Given the description of an element on the screen output the (x, y) to click on. 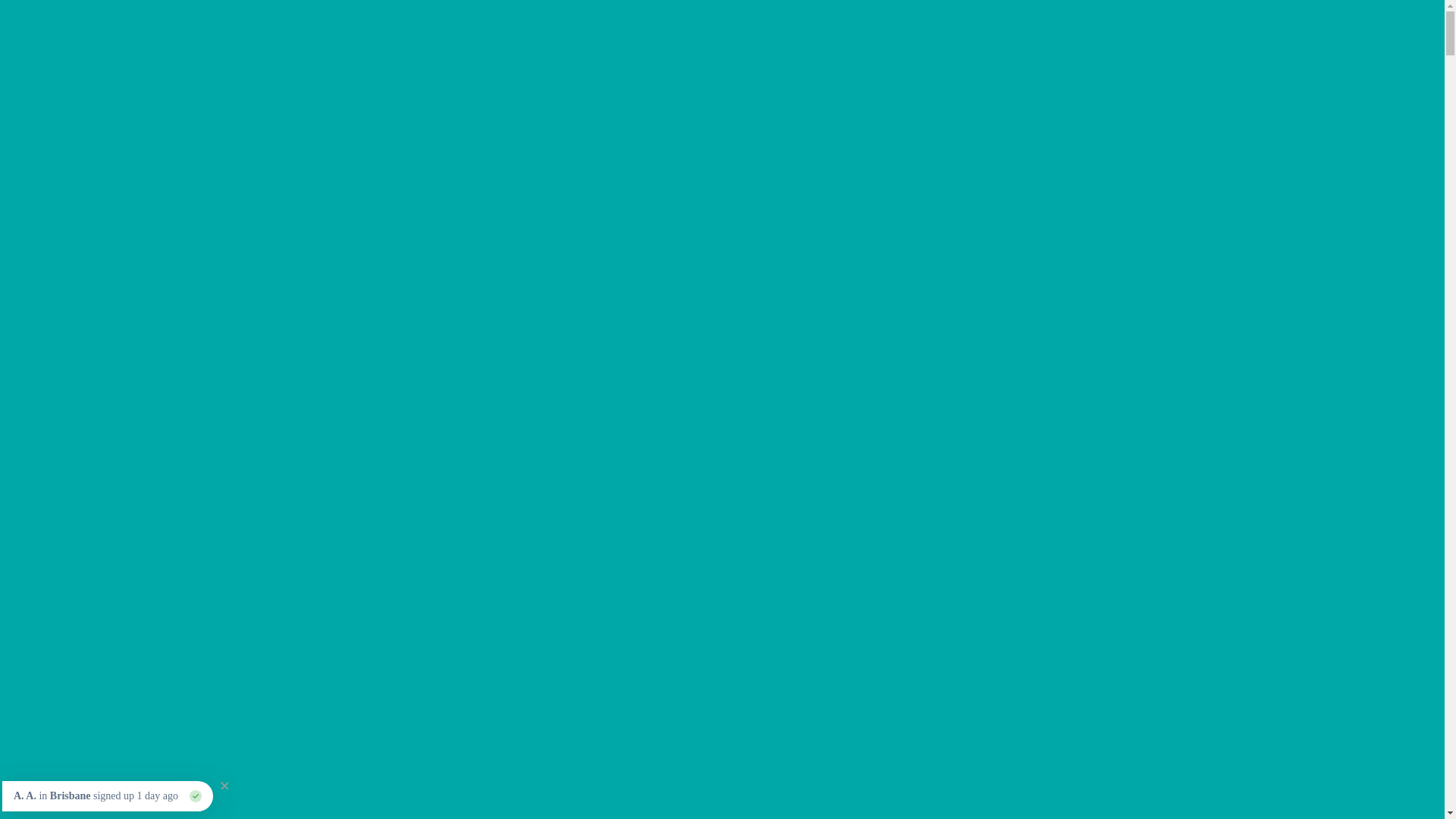
The Virtual Practitioner Academy Element type: text (1315, 29)
Blog Element type: text (1425, 29)
BLACK FRIDAY SALE Element type: text (1153, 29)
SHOP THE SALE NOW! Element type: text (99, 226)
Log In Element type: text (1419, 13)
